Given the description of an element on the screen output the (x, y) to click on. 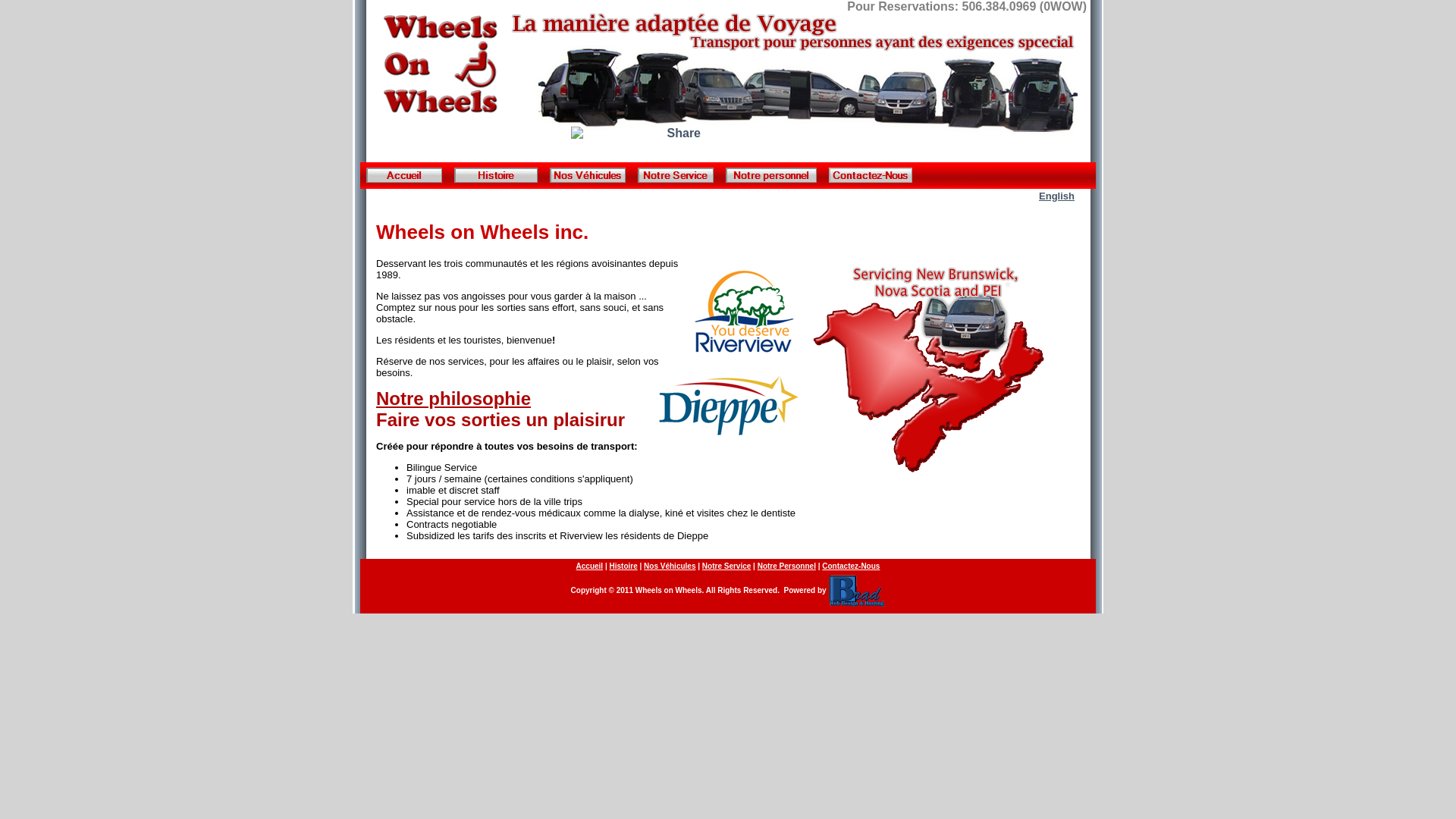
English Element type: text (1056, 195)
Histoire Element type: text (623, 565)
Notre Personnel Element type: text (786, 565)
Accueil Element type: text (589, 565)
Notre Service Element type: text (726, 565)
Contactez-Nous Element type: text (850, 565)
